Given the description of an element on the screen output the (x, y) to click on. 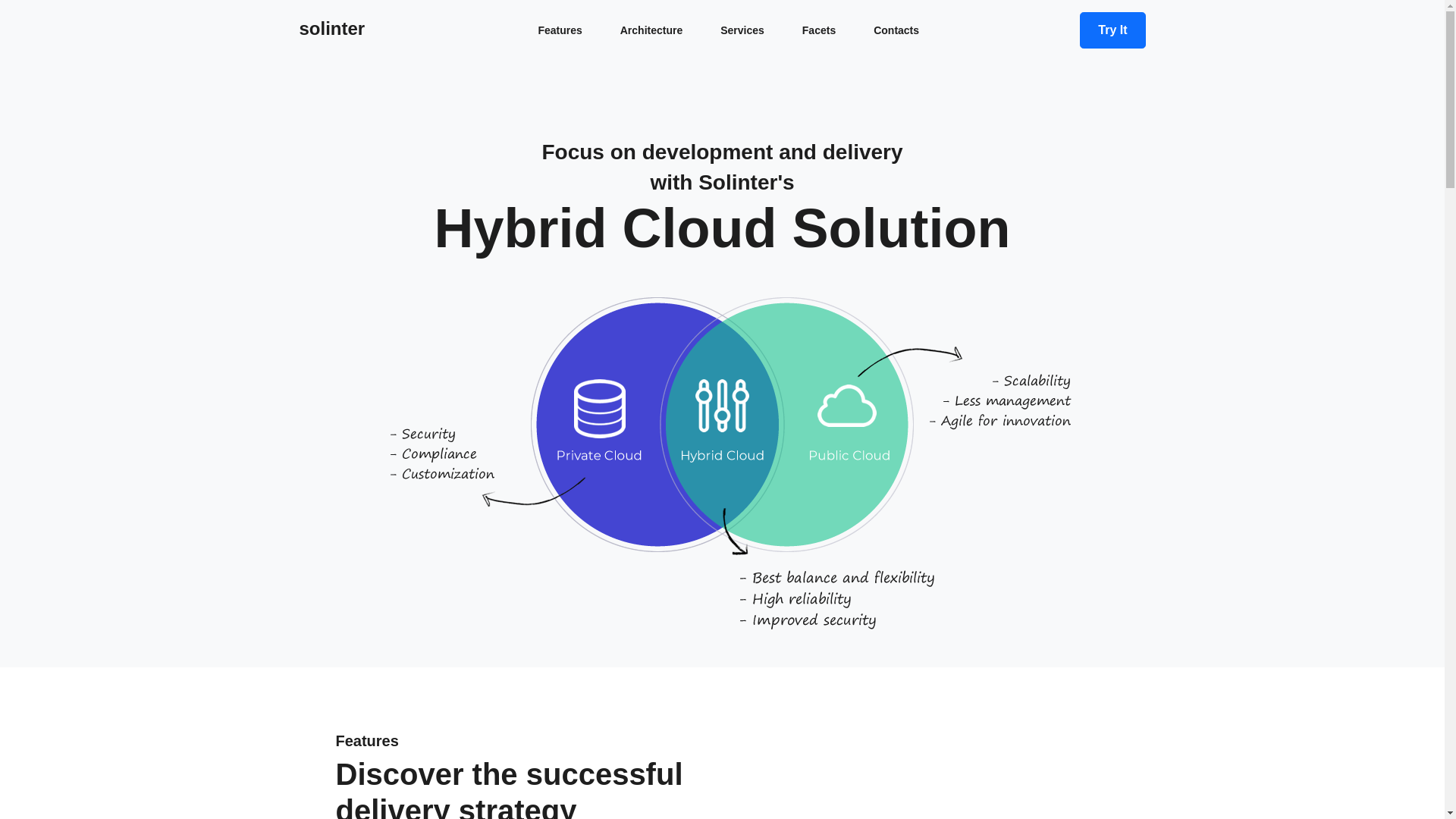
Try It (1112, 30)
Contacts (895, 30)
Services (742, 30)
solinter (331, 27)
Features (558, 30)
Facets (818, 30)
Architecture (651, 30)
